Given the description of an element on the screen output the (x, y) to click on. 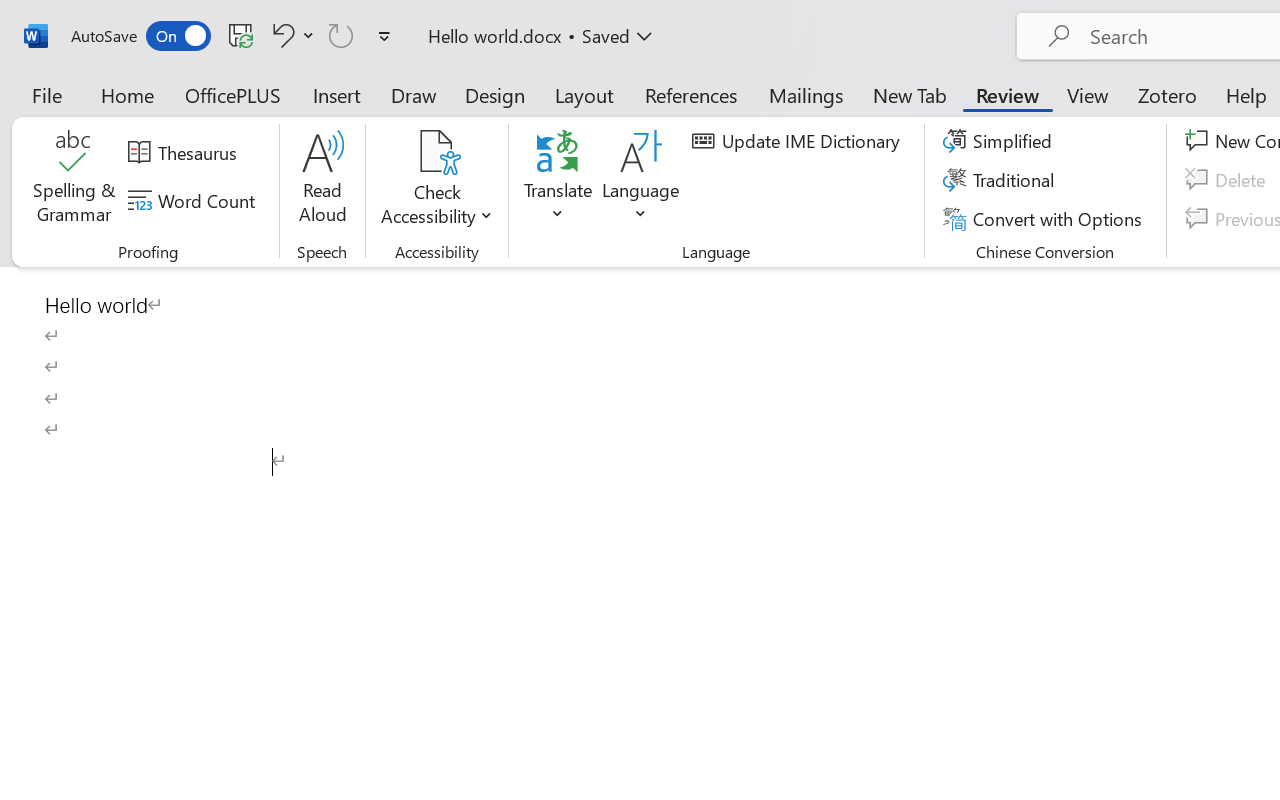
Cameo (91, 94)
Clear Recording (412, 114)
Screen Recording (290, 114)
Save as Show (539, 114)
